Given the description of an element on the screen output the (x, y) to click on. 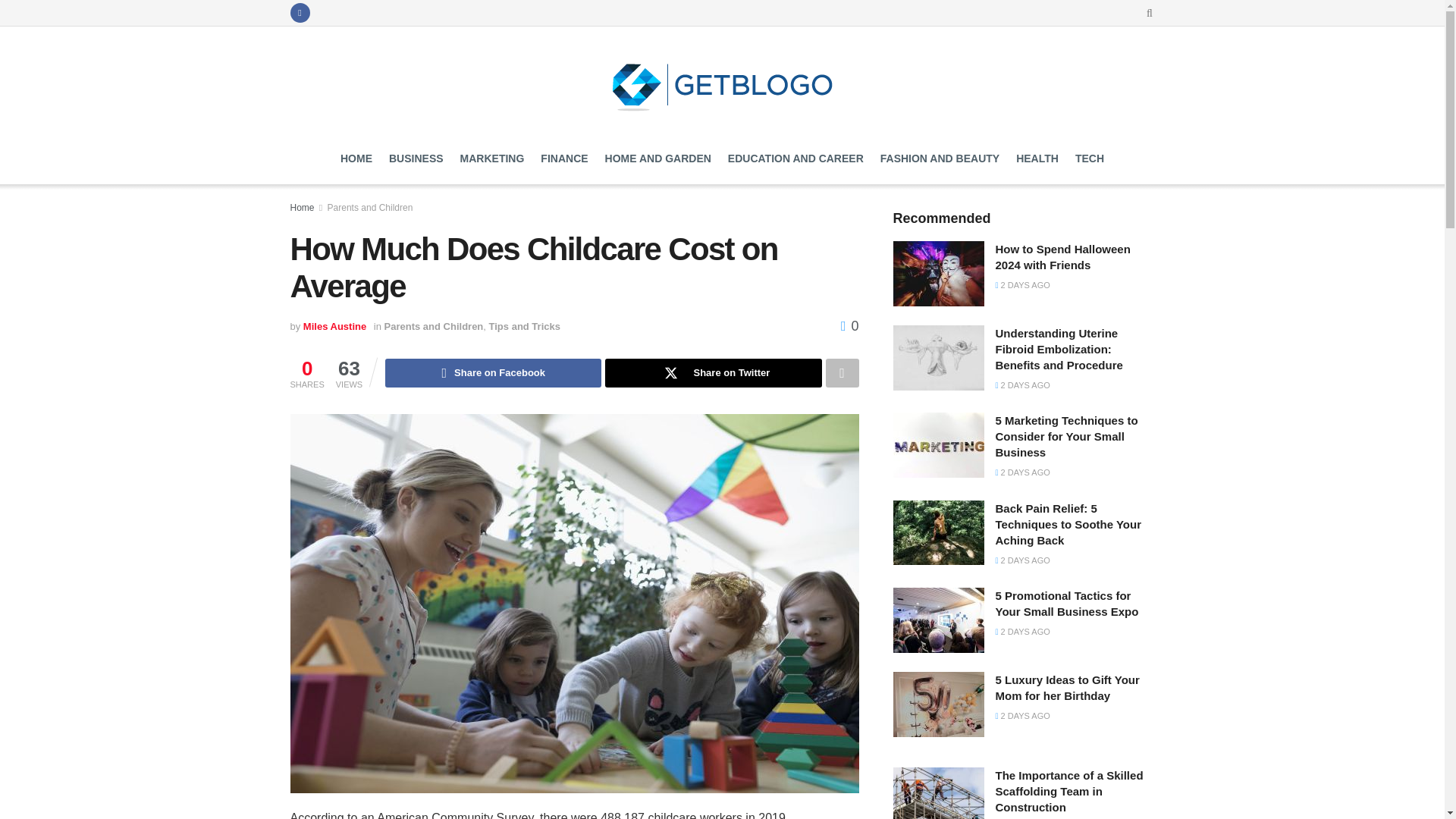
HOME AND GARDEN (658, 158)
Home (301, 207)
Parents and Children (370, 207)
Parents and Children (433, 326)
HEALTH (1037, 158)
TECH (1089, 158)
EDUCATION AND CAREER (795, 158)
BUSINESS (416, 158)
Tips and Tricks (524, 326)
0 (850, 325)
HOME (356, 158)
Share on Facebook (493, 372)
FASHION AND BEAUTY (939, 158)
Miles Austine (334, 326)
MARKETING (492, 158)
